Given the description of an element on the screen output the (x, y) to click on. 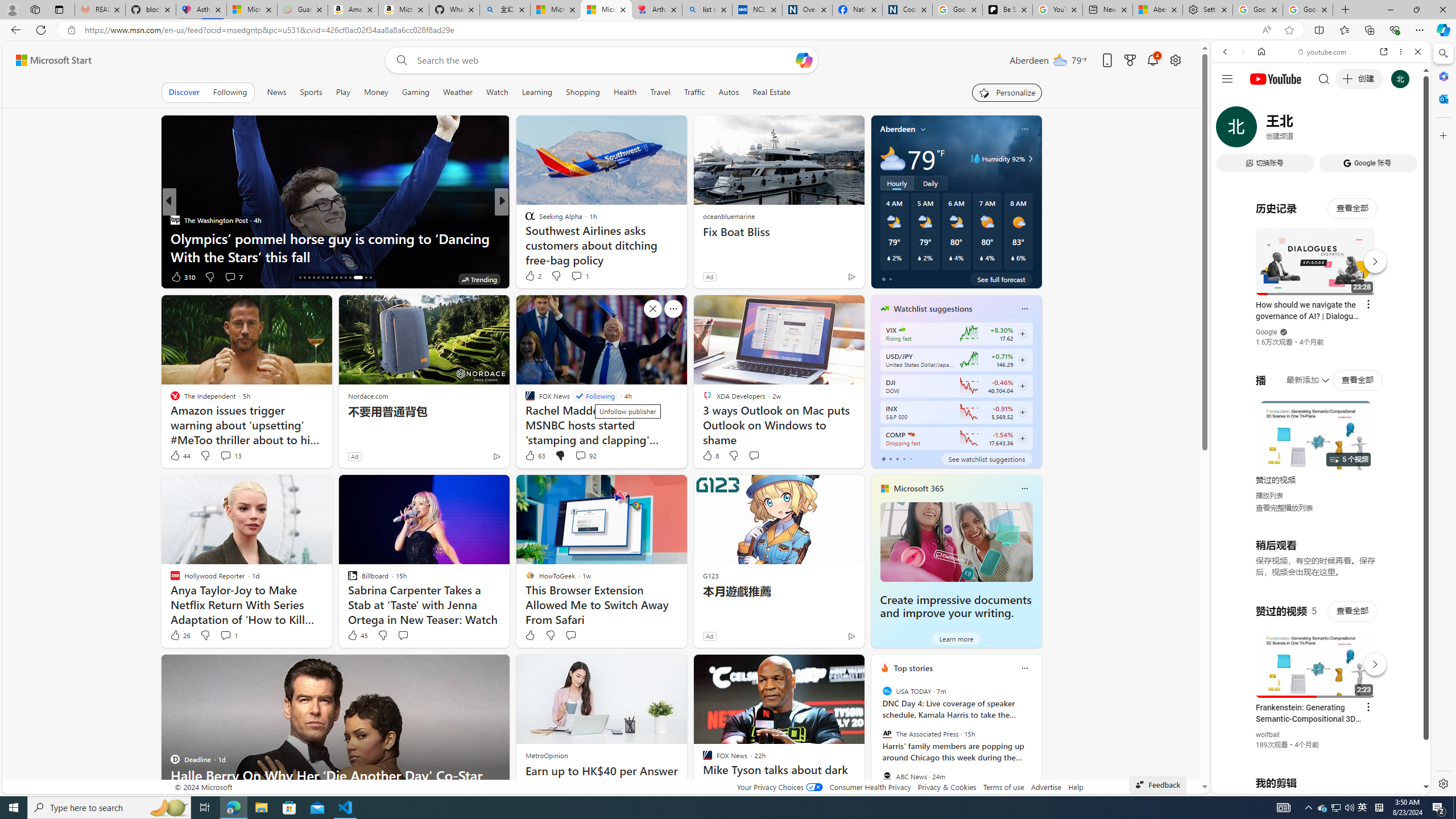
Discover (183, 92)
Enter your search term (603, 59)
Weather (457, 92)
Health (624, 92)
Home (1261, 51)
Feedback (1157, 784)
Traffic (694, 92)
Show More Music (1390, 310)
Hide this story (830, 668)
Web scope (1230, 102)
